Given the description of an element on the screen output the (x, y) to click on. 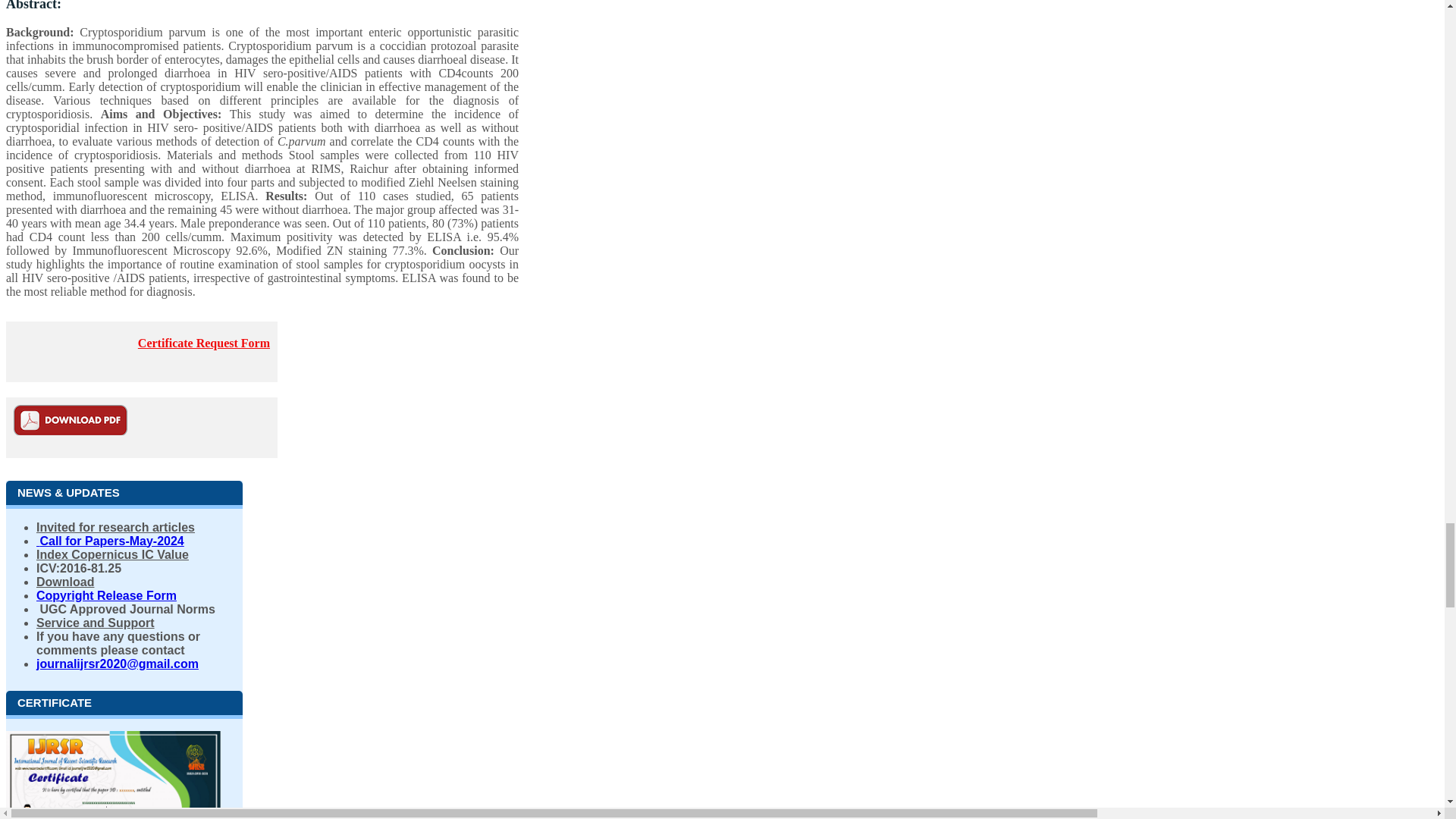
Certificate Request Form (203, 342)
20965F.pdf (70, 419)
Call for Papers-May-2024 (111, 540)
Copyright Release Form (106, 594)
